Given the description of an element on the screen output the (x, y) to click on. 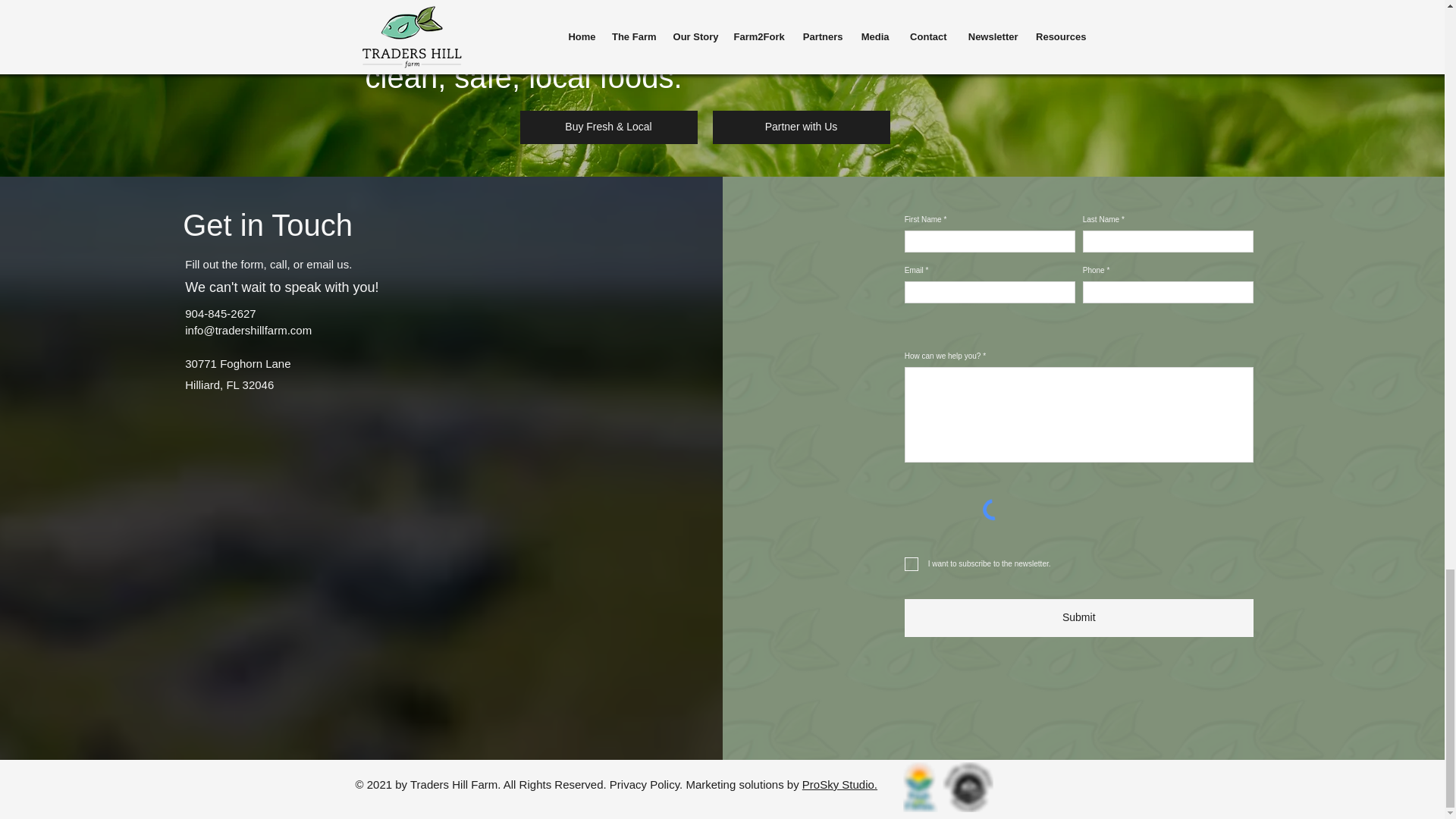
Partner with Us (801, 127)
Submit (1078, 617)
Google Maps (358, 522)
